Given the description of an element on the screen output the (x, y) to click on. 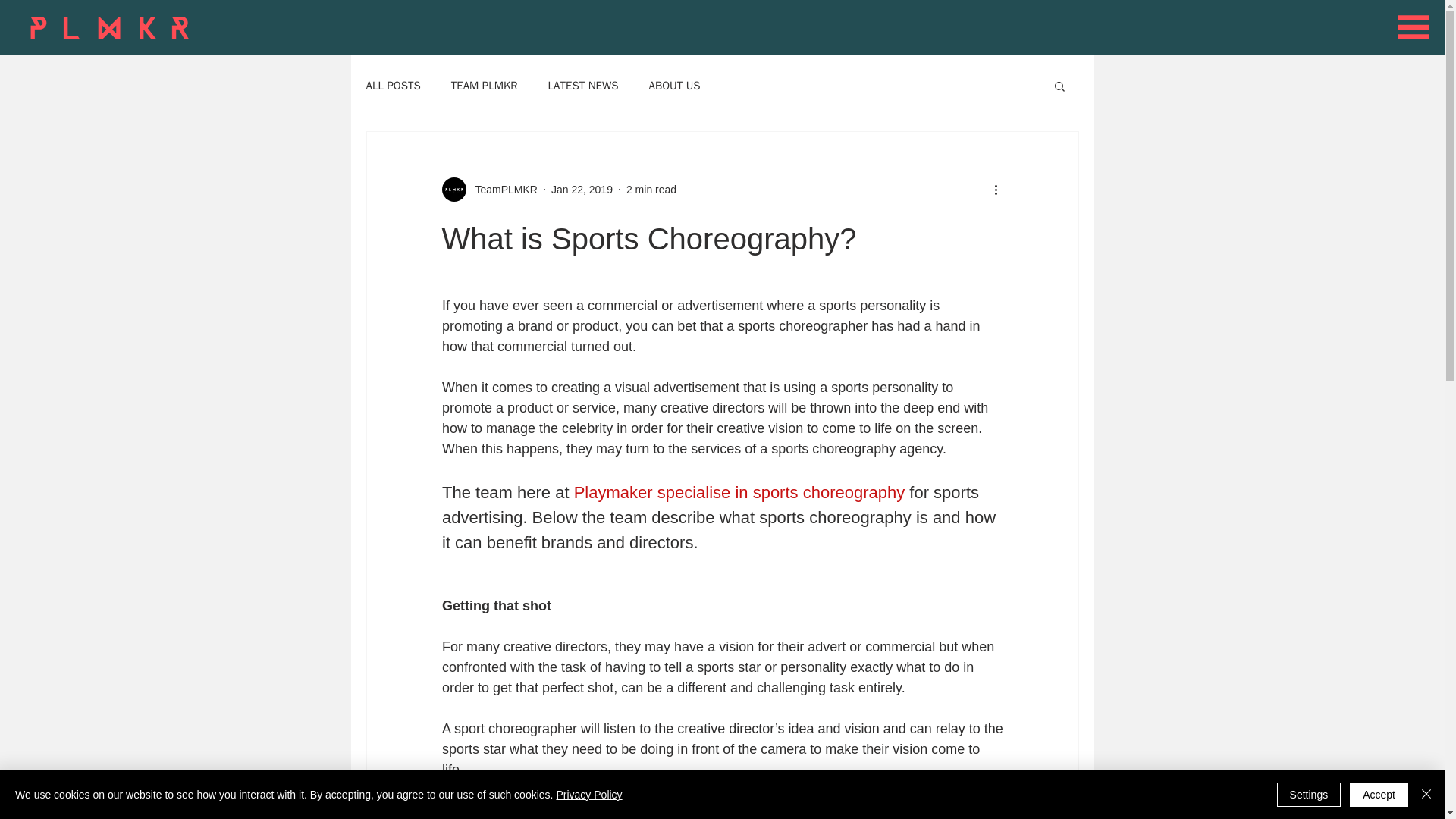
TEAM PLMKR (484, 85)
Privacy Policy (588, 794)
Accept (1378, 794)
Playmaker specialise in sports choreography (738, 492)
Settings (1308, 794)
2 min read (651, 189)
LATEST NEWS (583, 85)
Jan 22, 2019 (581, 189)
TeamPLMKR (501, 189)
ABOUT US (674, 85)
